Given the description of an element on the screen output the (x, y) to click on. 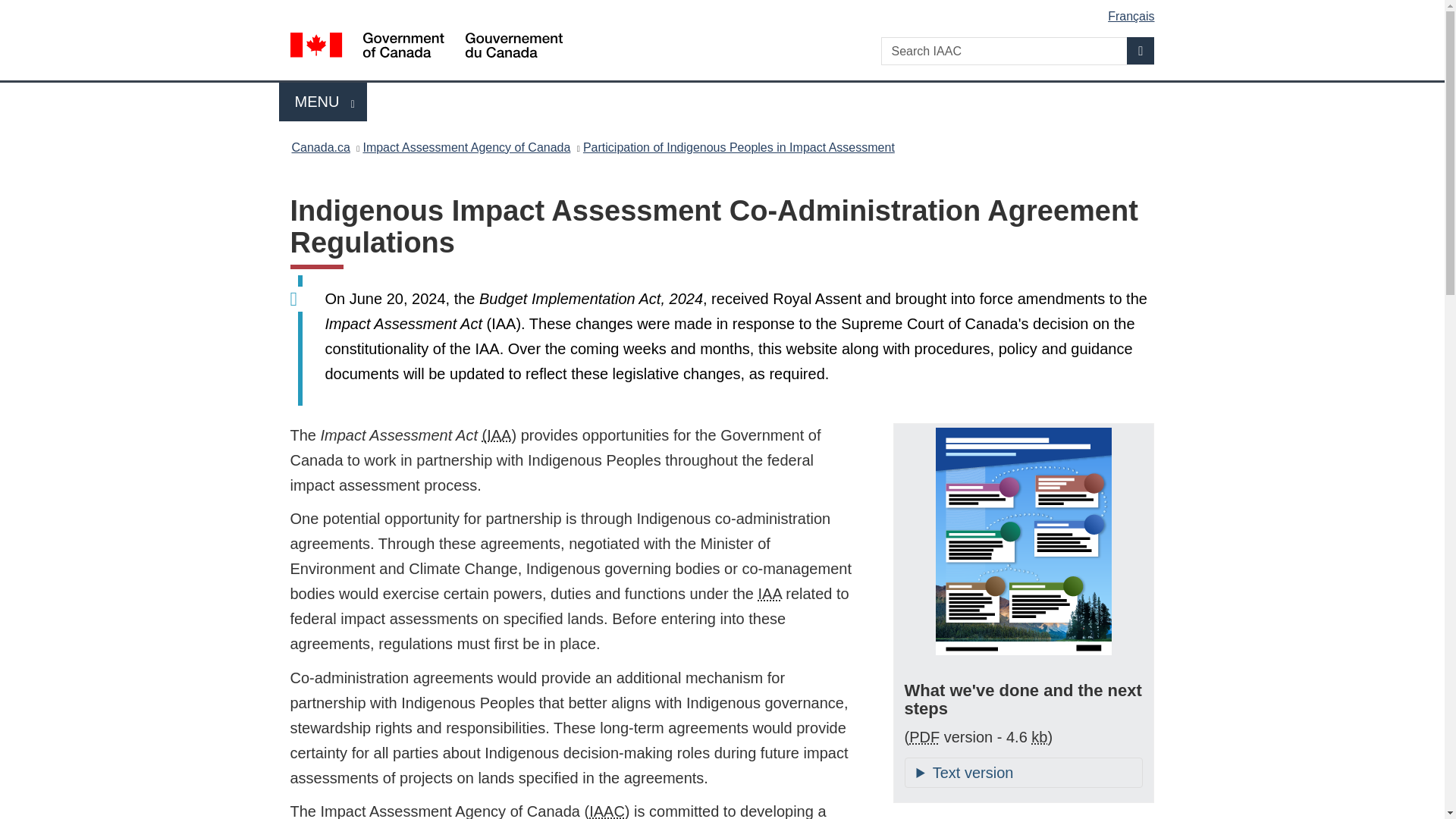
Canada.ca (320, 147)
Search (1140, 50)
Impact Assessment Agency of Canada (606, 811)
Impact Assessment Agency of Canada (466, 147)
Participation of Indigenous Peoples in Impact Assessment (739, 147)
Skip to main content (322, 101)
Impact Assessment Act (725, 11)
kilobytes (496, 434)
Impact Assessment Act (1038, 736)
Portable Document Format (769, 593)
